Given the description of an element on the screen output the (x, y) to click on. 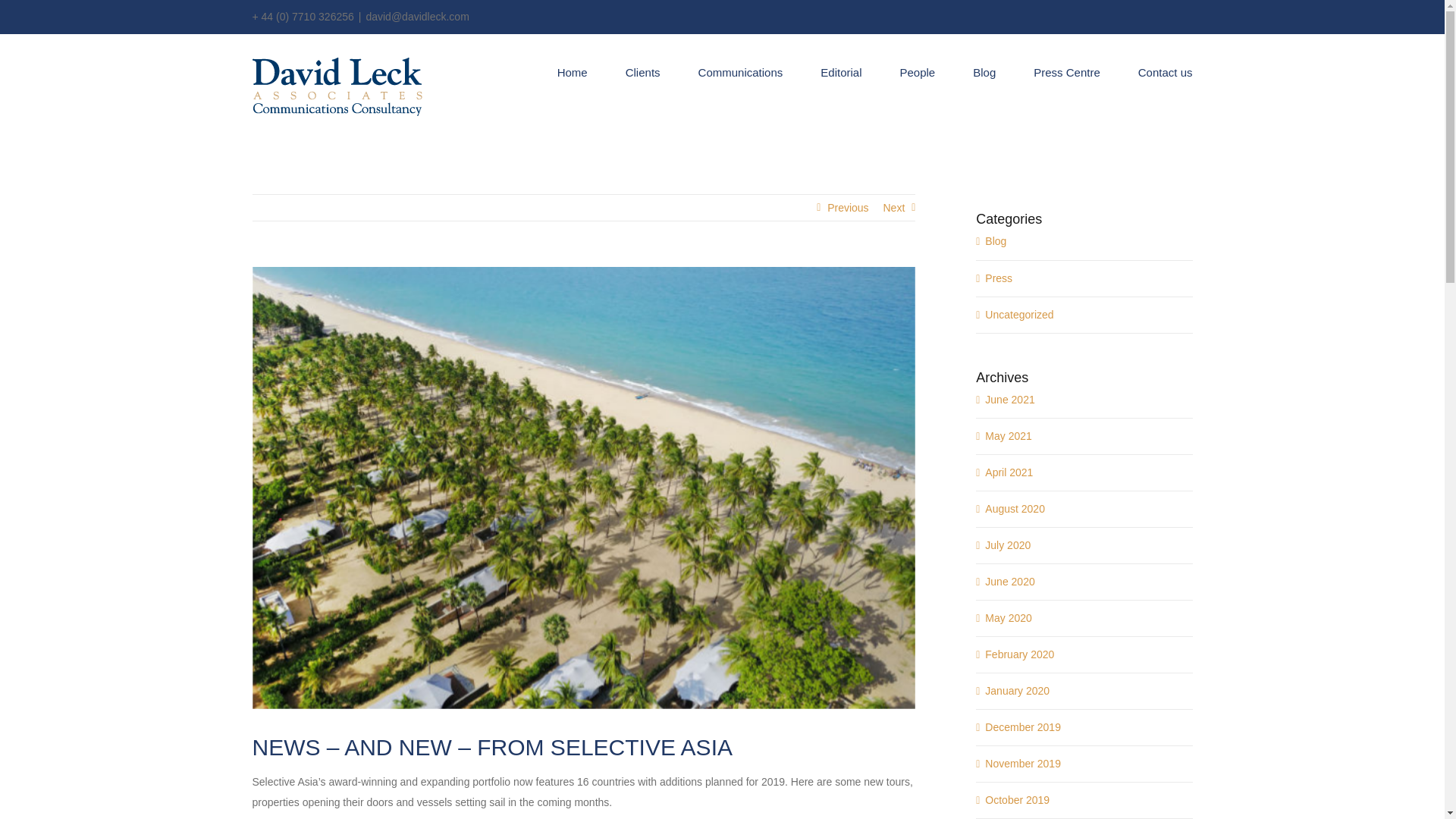
Press Centre (1066, 70)
Previous (847, 207)
Communications (740, 70)
